Given the description of an element on the screen output the (x, y) to click on. 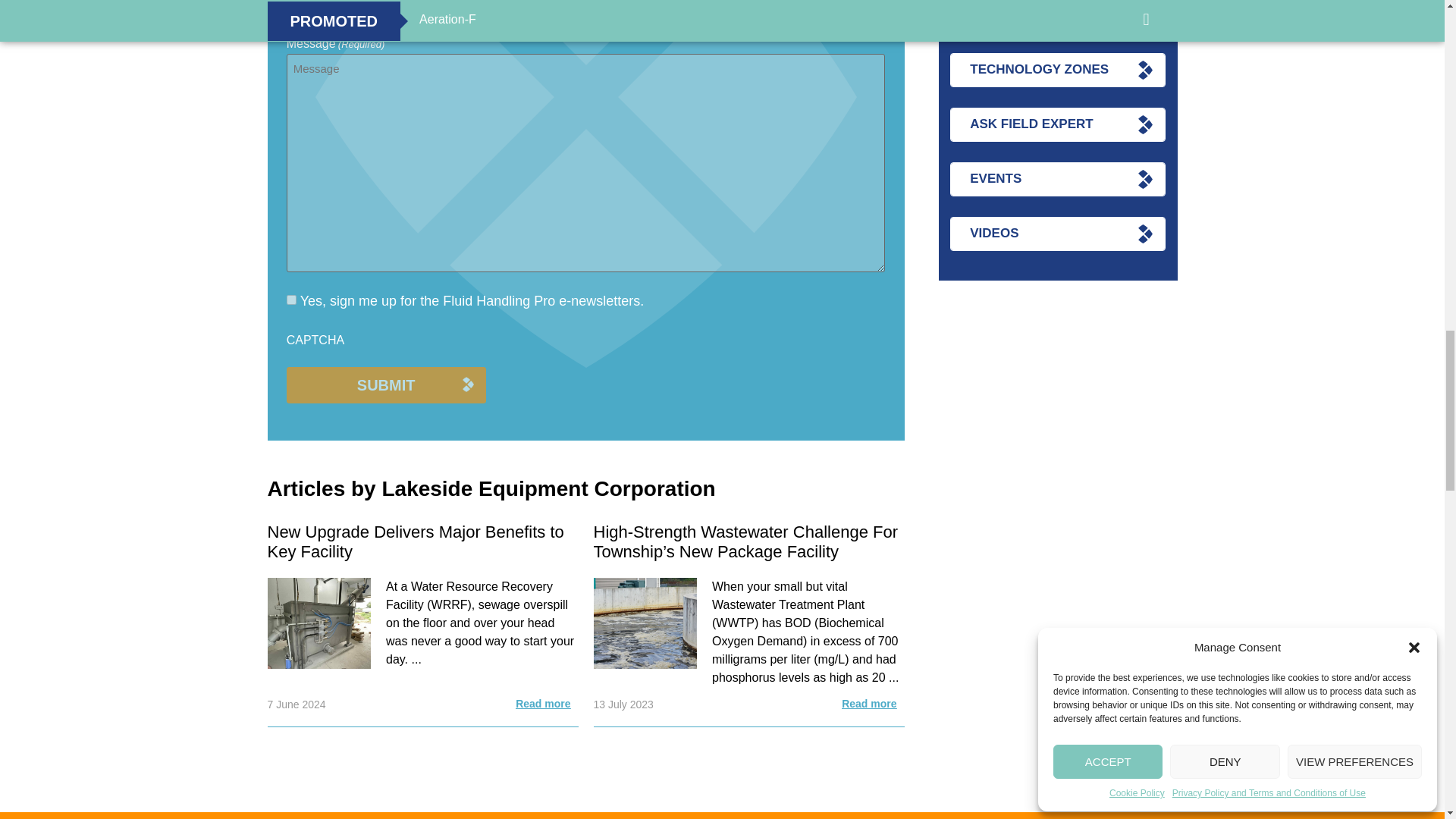
1 (291, 299)
Submit (386, 384)
